Given the description of an element on the screen output the (x, y) to click on. 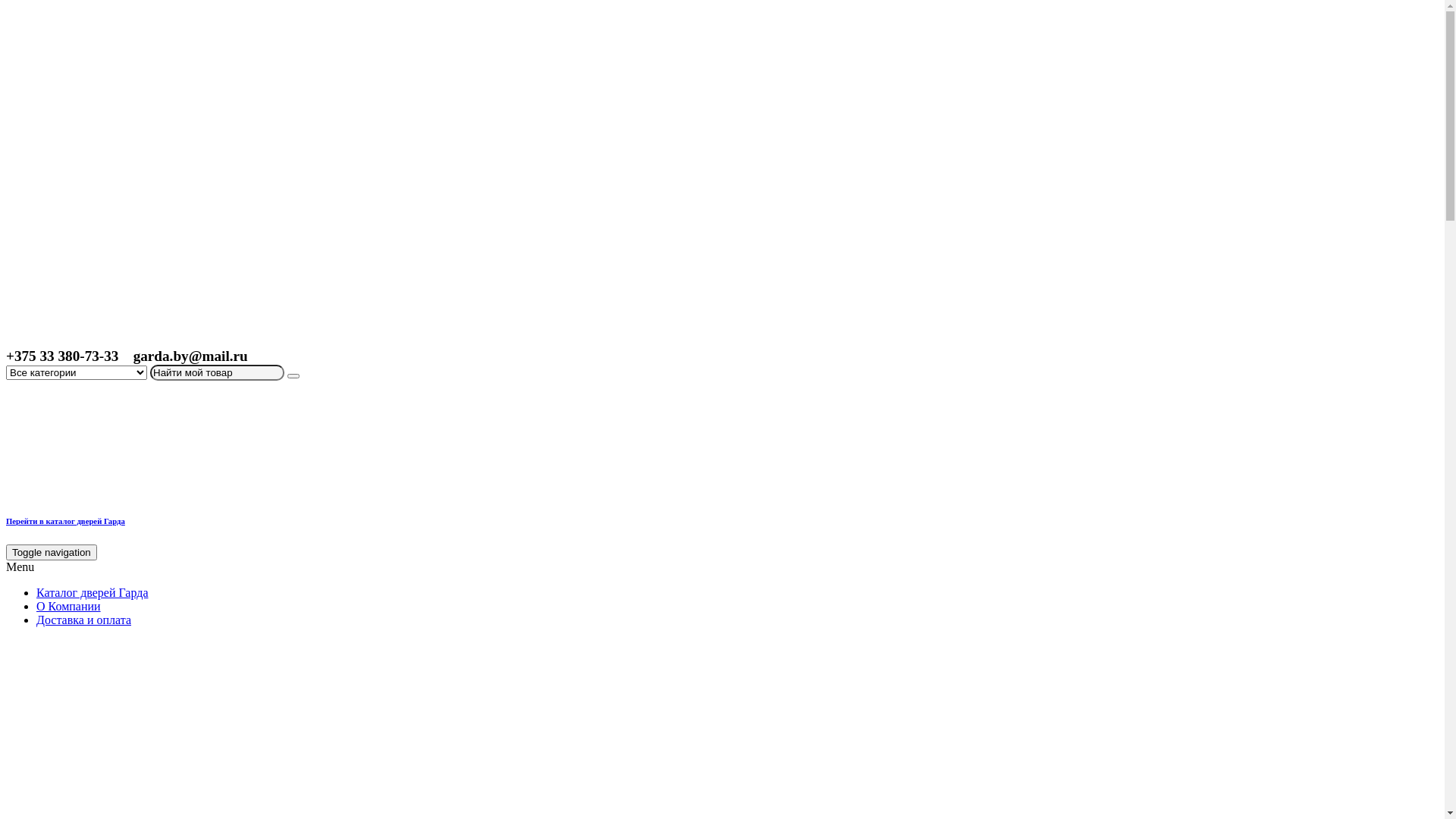
Skip to the content Element type: text (5, 5)
Toggle navigation Element type: text (51, 552)
